Given the description of an element on the screen output the (x, y) to click on. 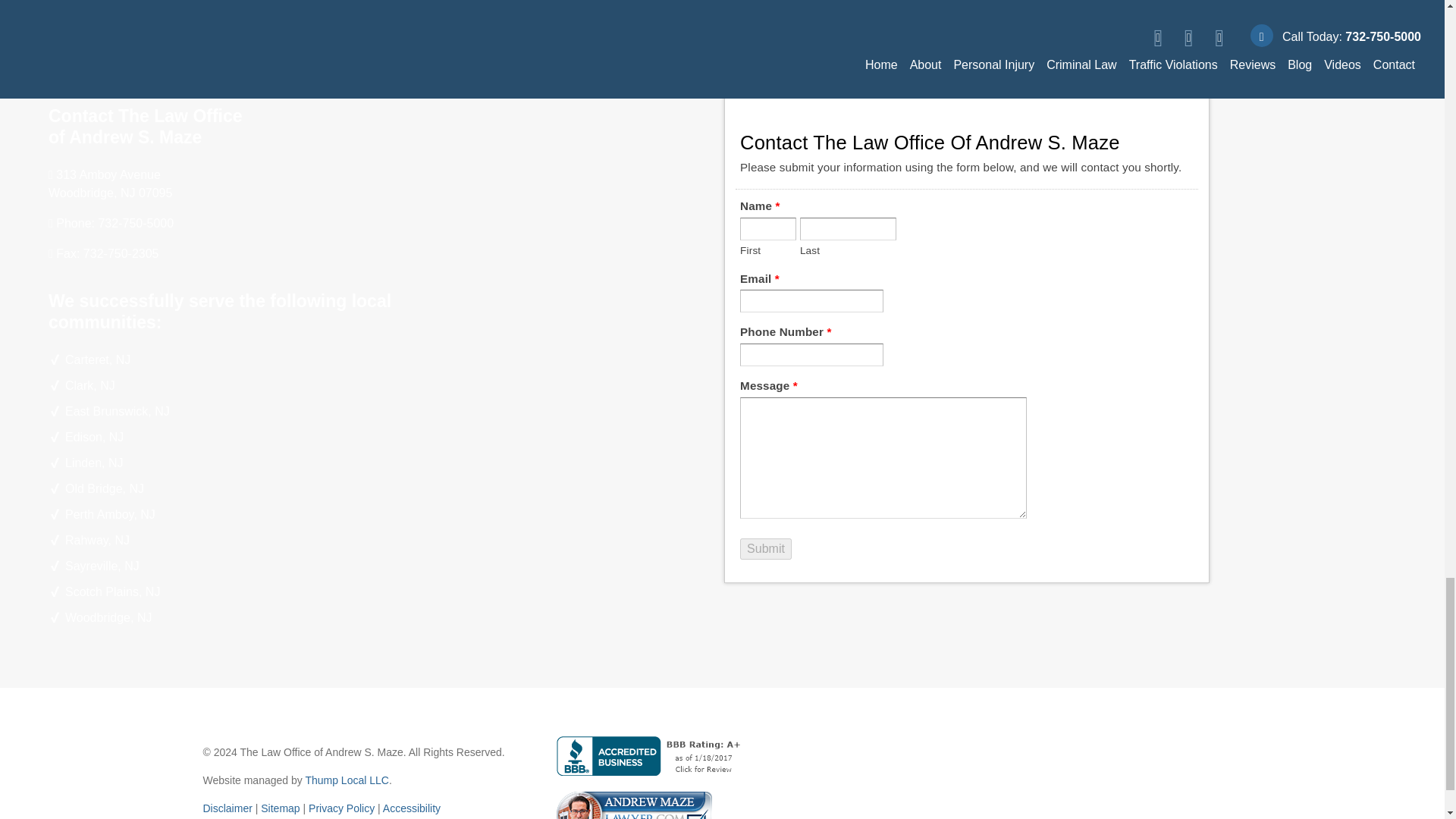
Submit (765, 548)
